Given the description of an element on the screen output the (x, y) to click on. 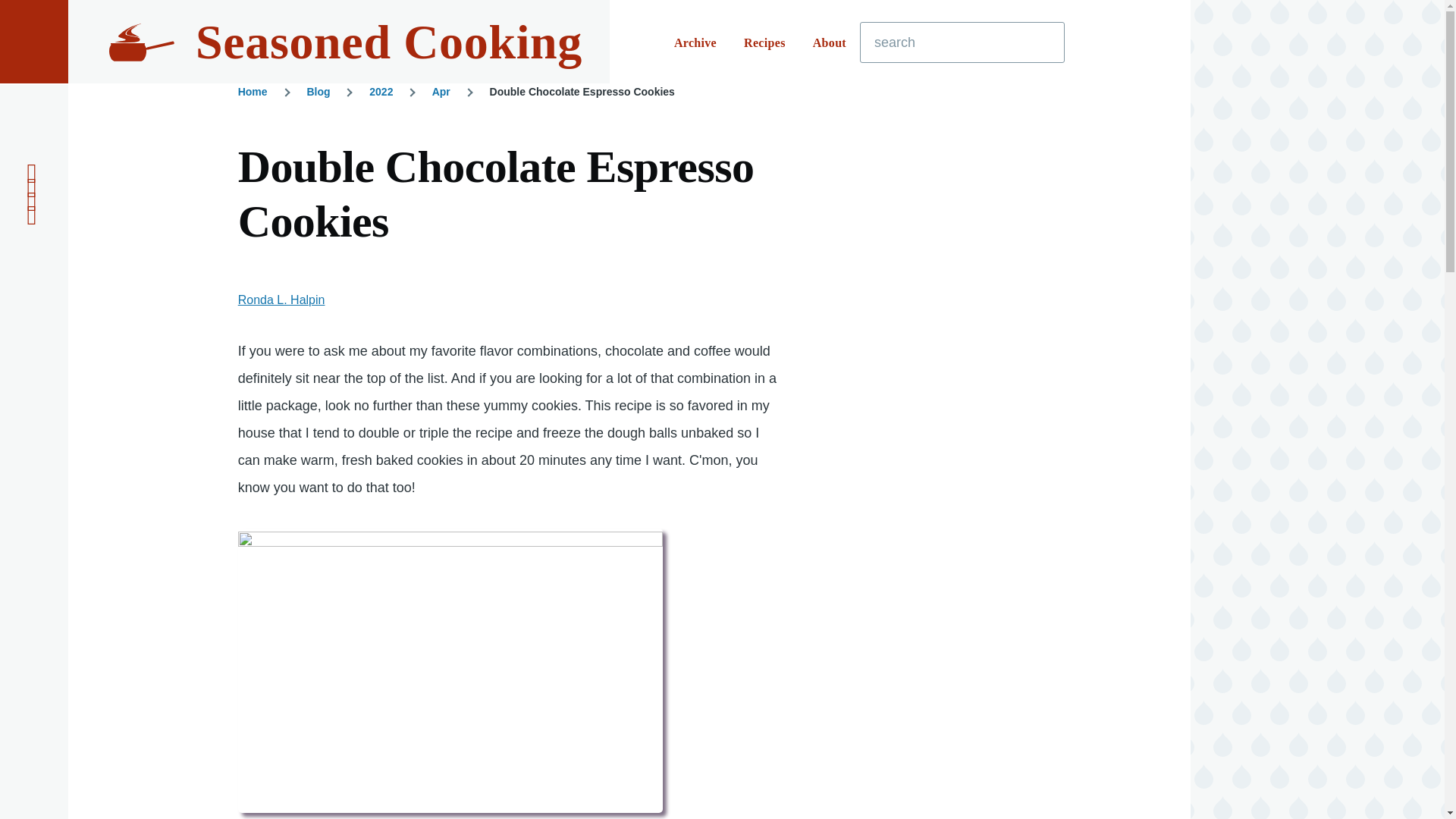
Blog (317, 91)
2022 (381, 91)
Home (388, 41)
Home (252, 91)
Ronda L. Halpin (281, 299)
Skip to main content (595, 6)
Seasoned Cooking (388, 41)
Apr (440, 91)
